Given the description of an element on the screen output the (x, y) to click on. 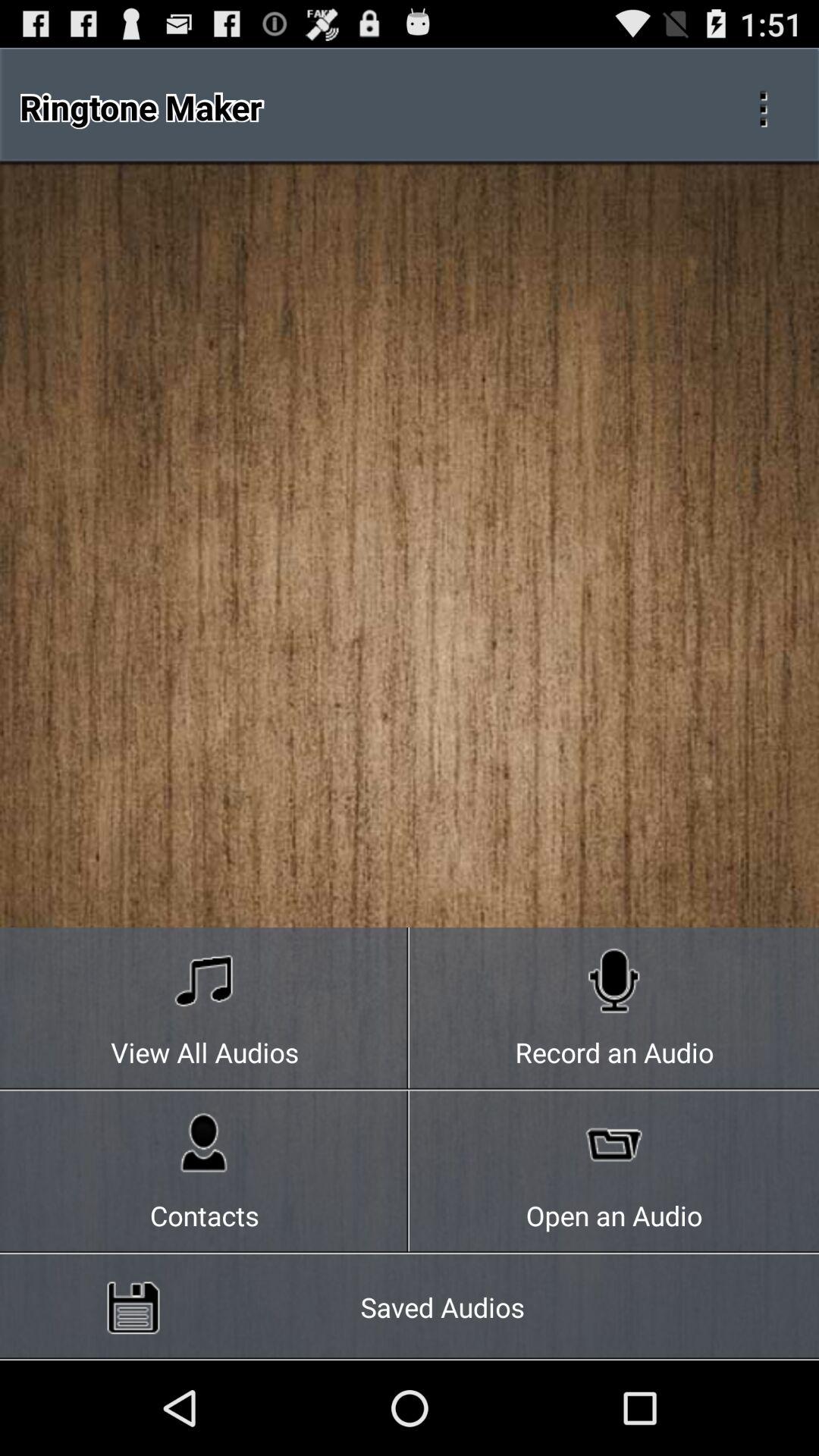
select the icon above the saved audios button (204, 1172)
